Given the description of an element on the screen output the (x, y) to click on. 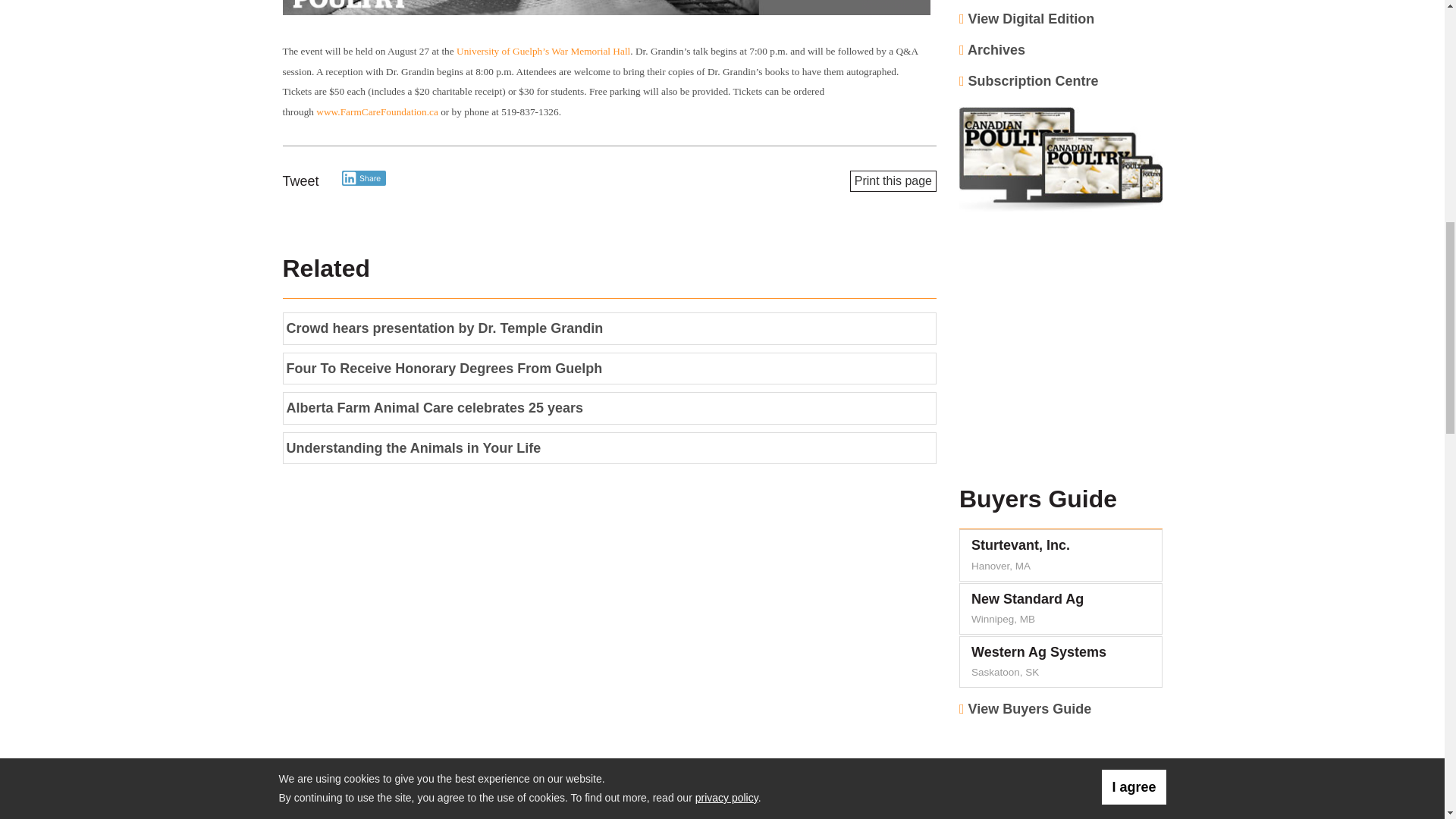
3rd party ad content (609, 9)
3rd party ad content (1060, 352)
3rd party ad content (1060, 775)
